Given the description of an element on the screen output the (x, y) to click on. 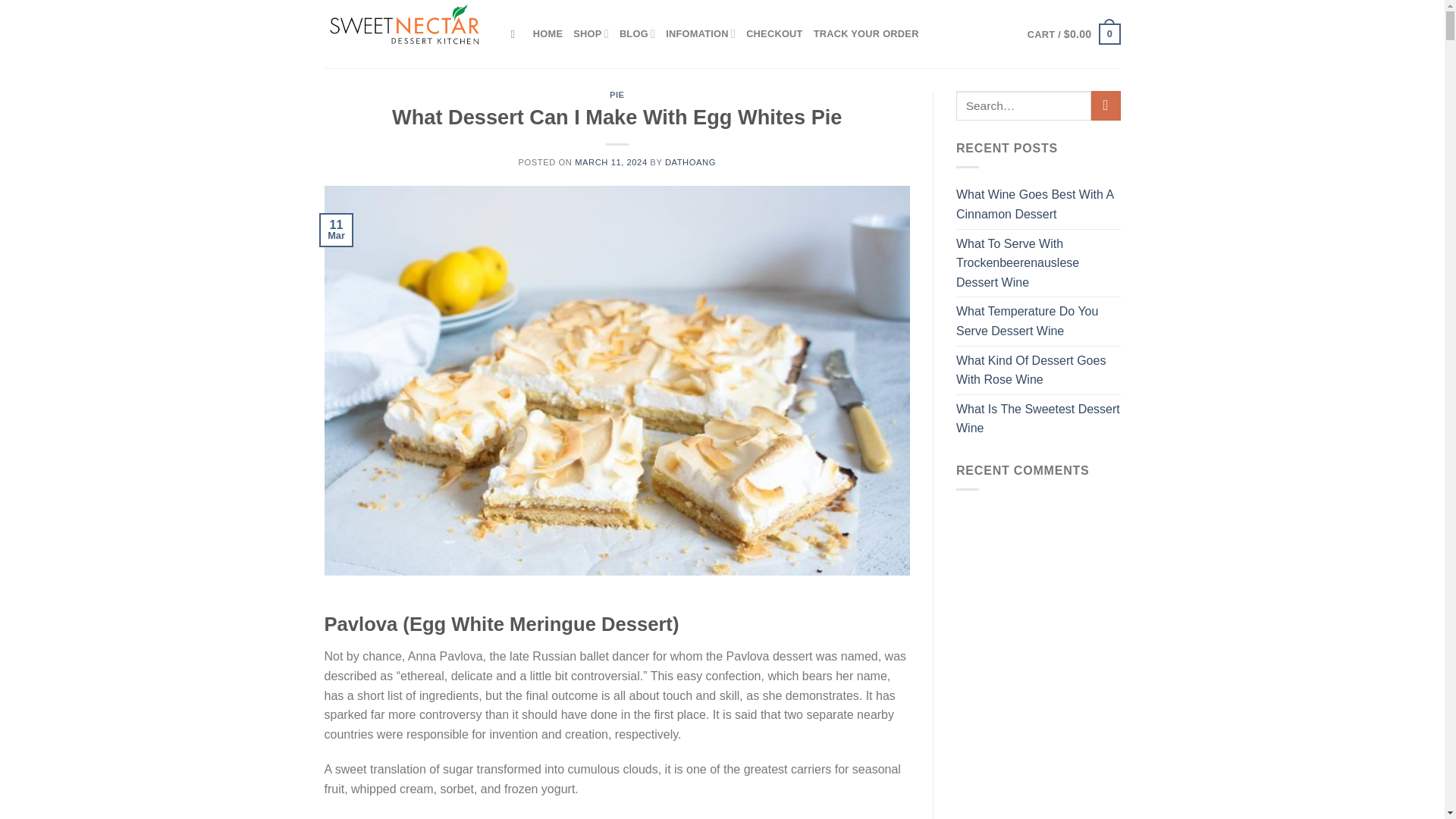
DATHOANG (690, 162)
BLOG (637, 33)
PIE (617, 94)
INFOMATION (700, 33)
HOME (547, 33)
TRACK YOUR ORDER (865, 33)
SHOP (590, 33)
Cart (1074, 34)
MARCH 11, 2024 (611, 162)
CHECKOUT (774, 33)
